Given the description of an element on the screen output the (x, y) to click on. 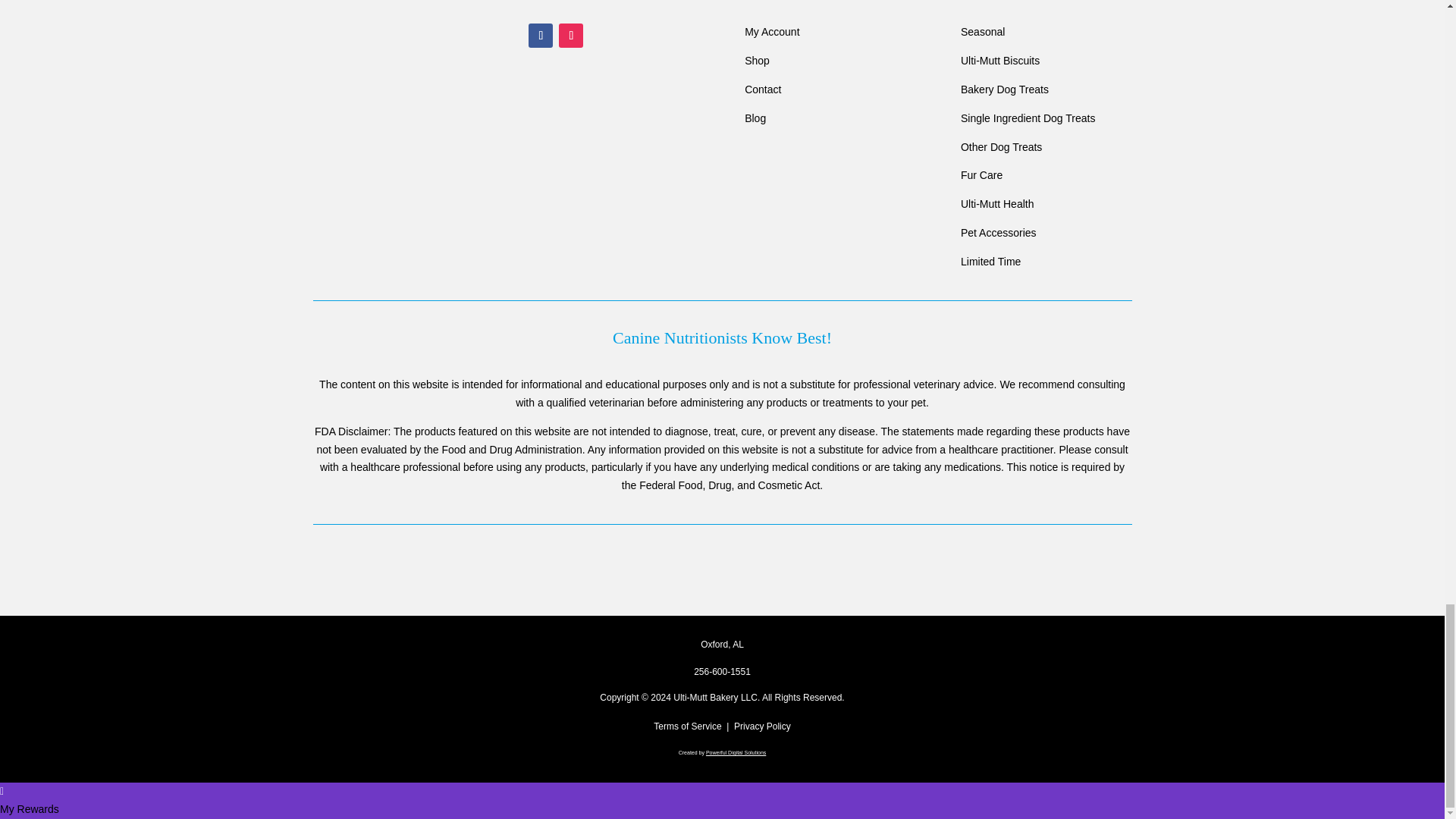
Follow on Instagram (571, 35)
Follow on Facebook (540, 35)
ulti mutt bakery logo transparent (380, 48)
